Given the description of an element on the screen output the (x, y) to click on. 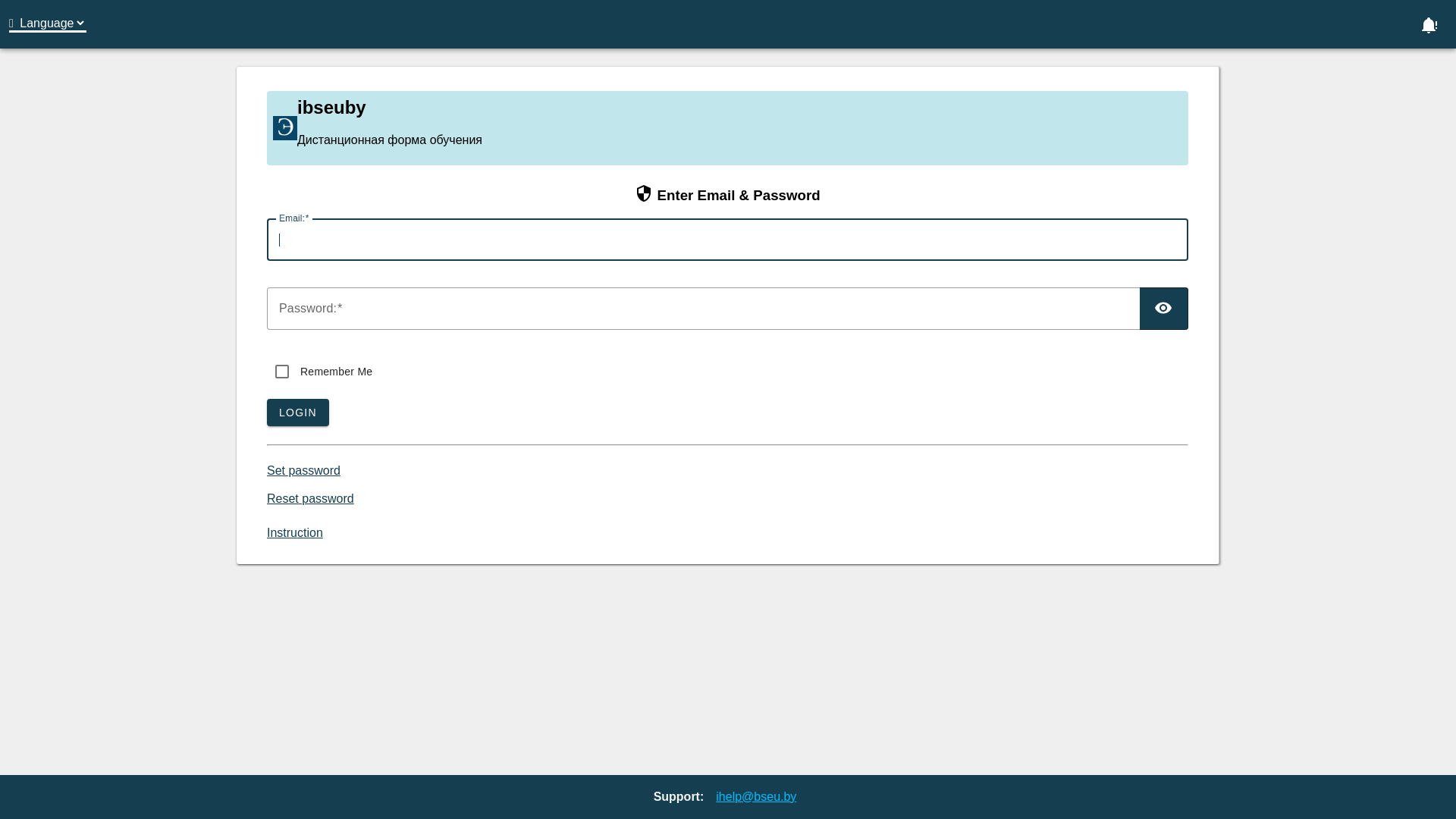
TOGGLE PASSWORD Element type: text (1163, 308)
Set password Element type: text (303, 470)
Login Element type: text (1428, 24)
LOGIN Element type: text (297, 412)
Instruction Element type: text (294, 532)
ibseuby Element type: hover (285, 128)
ihelp@bseu.by Element type: text (755, 796)
Reset password Element type: text (310, 498)
